Given the description of an element on the screen output the (x, y) to click on. 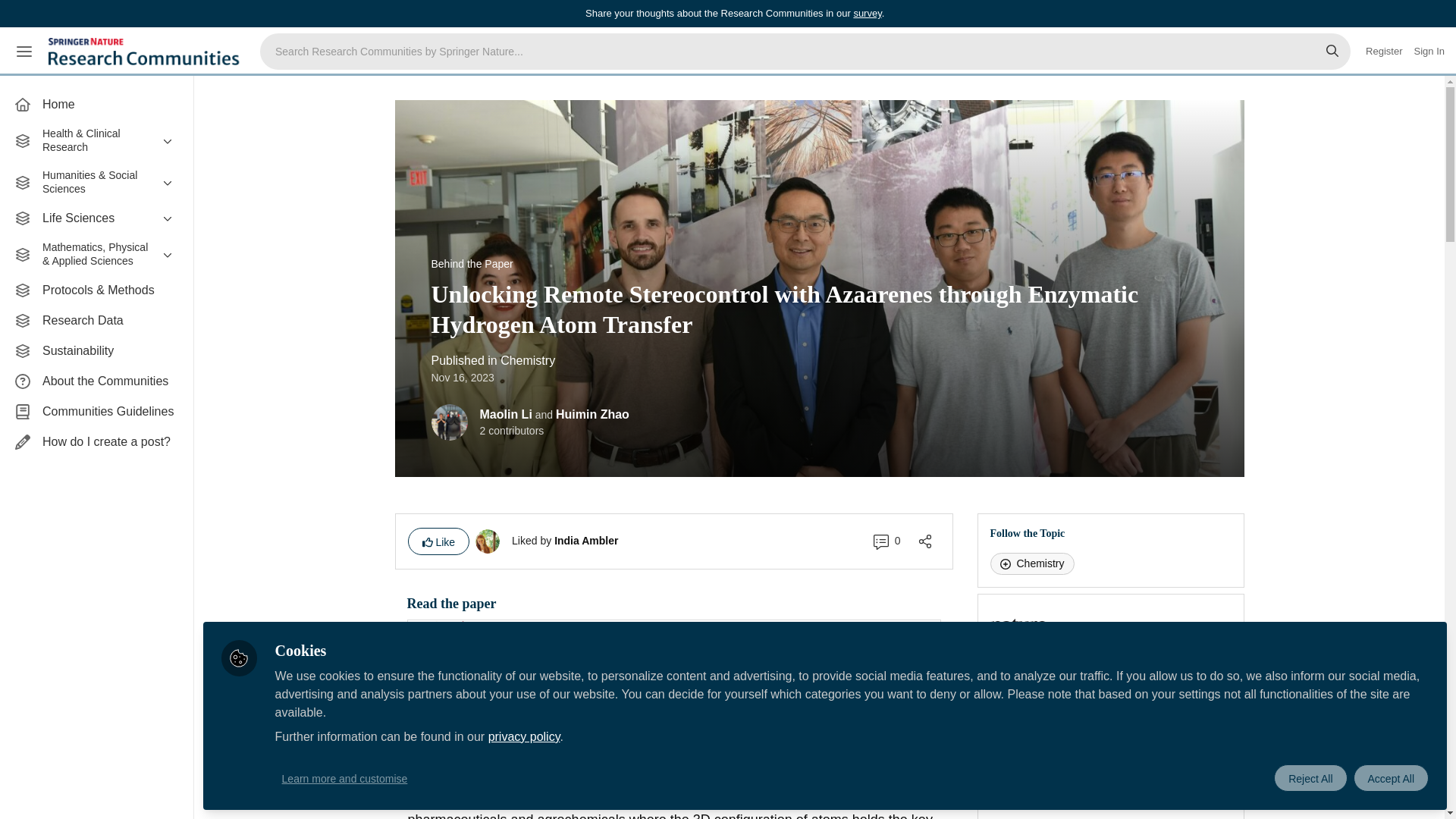
Life Sciences (96, 217)
Menu (24, 51)
Life Sciences (96, 217)
Research Communities by Springer Nature (146, 51)
Home (96, 103)
Home (96, 103)
Search (1332, 51)
survey (866, 12)
